Given the description of an element on the screen output the (x, y) to click on. 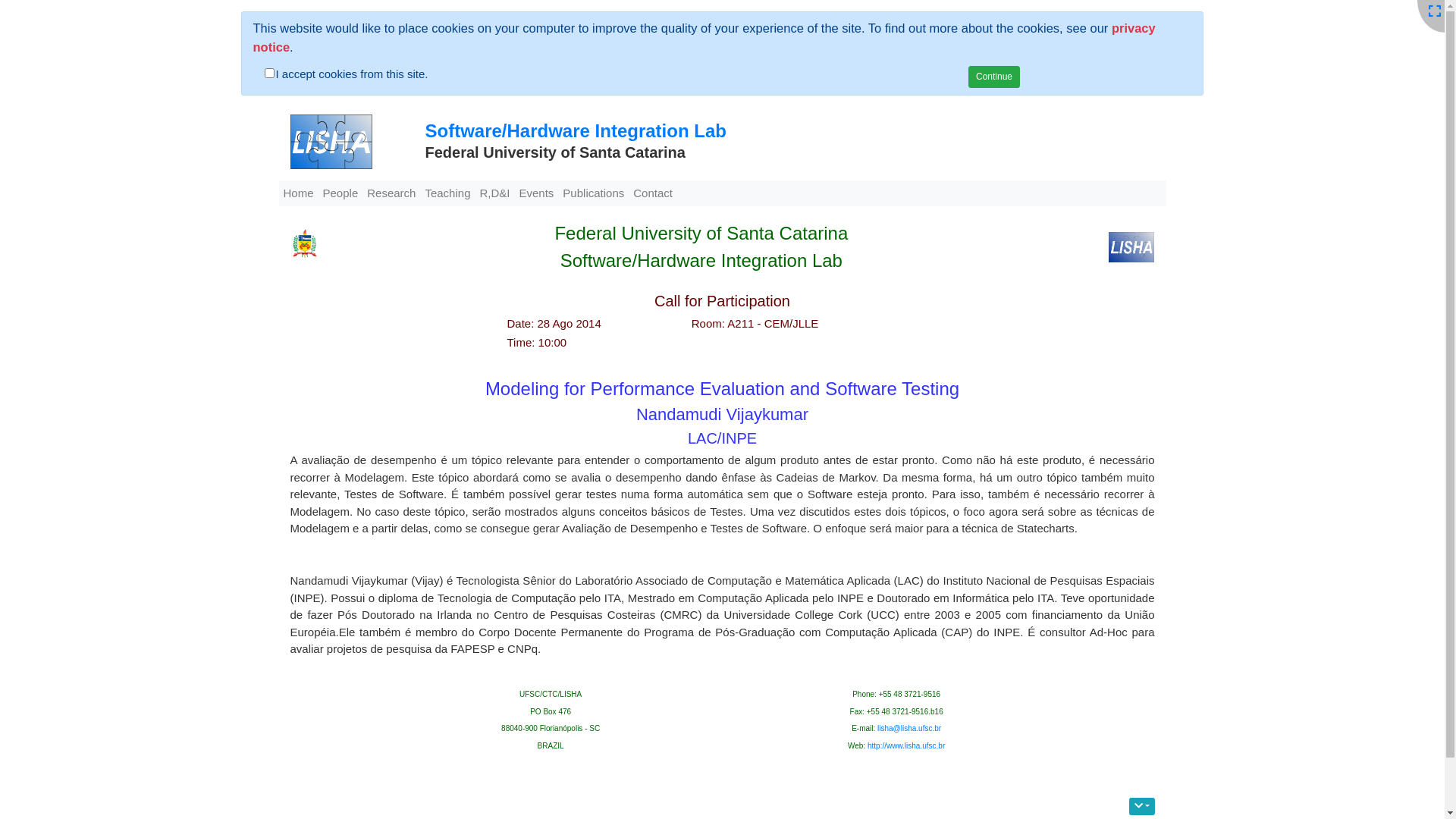
lisha@lisha.ufsc.br Element type: text (909, 728)
LAC/INPE Element type: text (721, 437)
Teaching Element type: text (447, 193)
LISHA Element type: hover (325, 141)
privacy notice Element type: text (704, 37)
Nandamudi Vijaykumar Element type: text (722, 413)
People Element type: text (340, 193)
Contact Element type: text (652, 193)
http://www.lisha.ufsc.br Element type: text (905, 745)
R,D&I Element type: text (494, 193)
Publications Element type: text (593, 193)
Software/Hardware Integration Lab Element type: text (574, 129)
Home Element type: text (298, 193)
Research Element type: text (391, 193)
Page actions Element type: hover (1141, 806)
Fullscreen Element type: hover (1434, 11)
Events Element type: text (536, 193)
Continue Element type: text (993, 76)
